Given the description of an element on the screen output the (x, y) to click on. 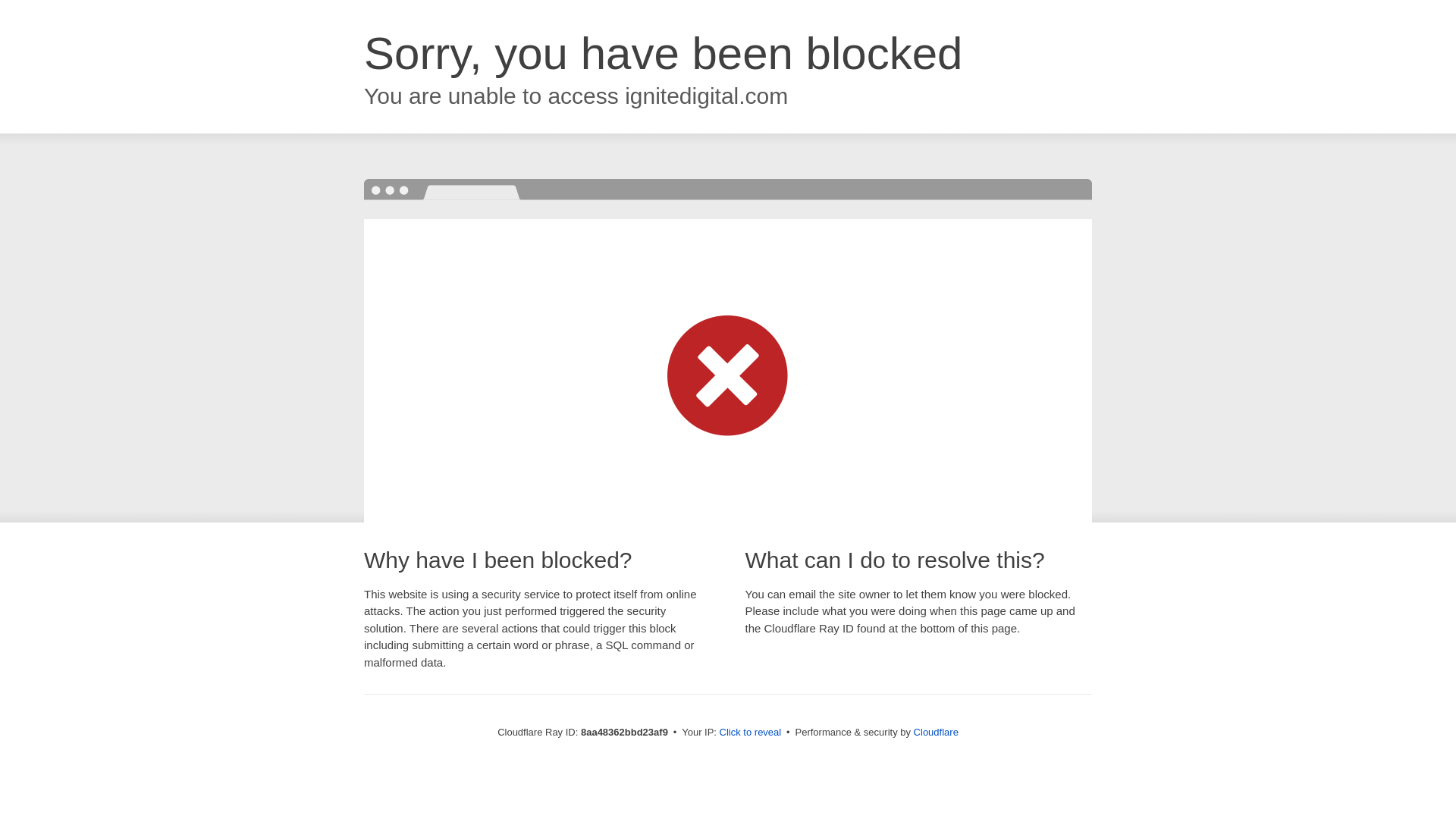
Cloudflare (936, 731)
Click to reveal (750, 732)
